Given the description of an element on the screen output the (x, y) to click on. 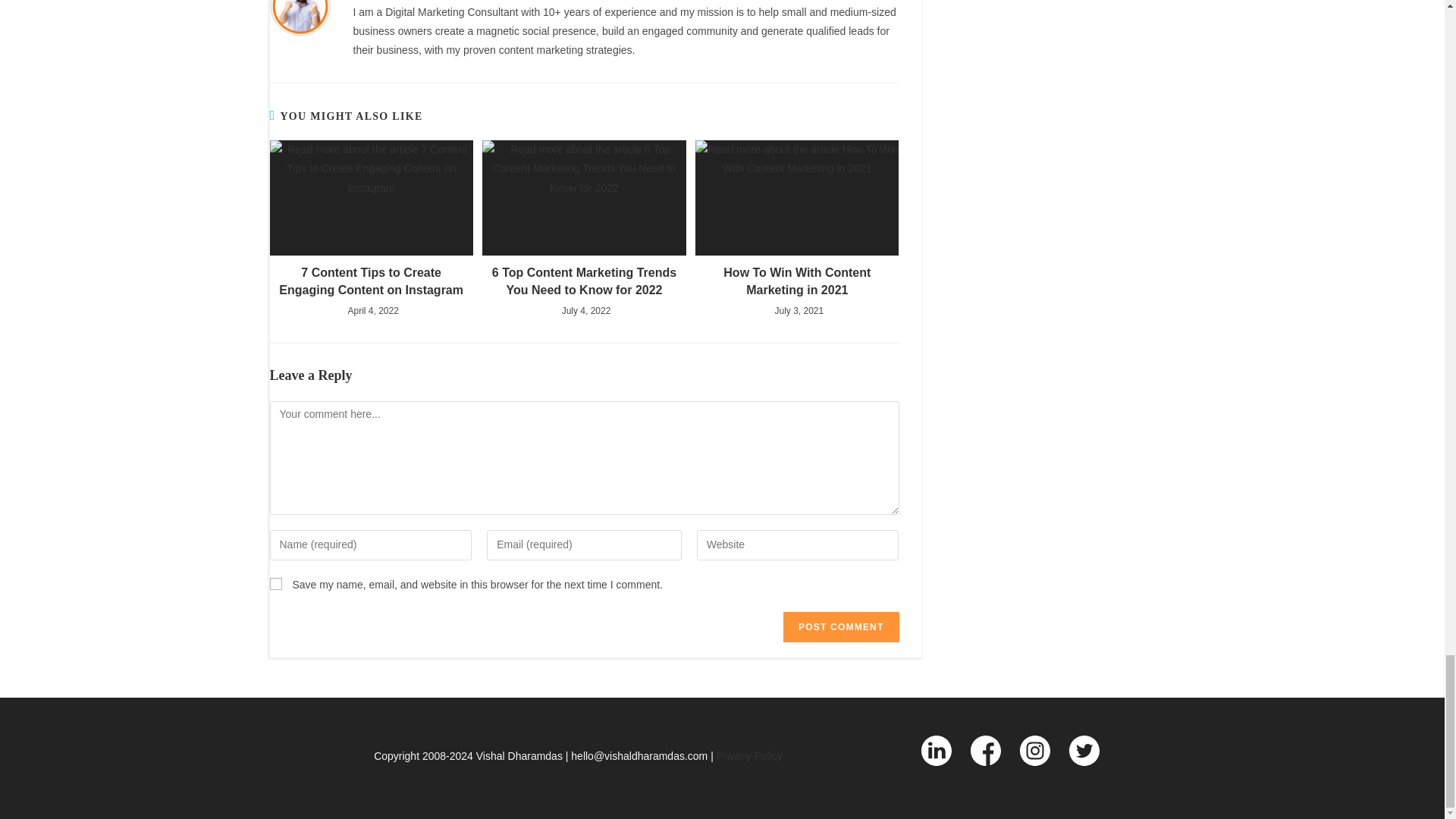
7 Content Tips to Create Engaging Content on Instagram (371, 281)
6 Top Content Marketing Trends You Need to Know for 2022 (584, 281)
Post Comment (840, 626)
Post Comment (840, 626)
How To Win With Content Marketing in 2021 (796, 281)
Visit author page (299, 5)
yes (275, 583)
